Given the description of an element on the screen output the (x, y) to click on. 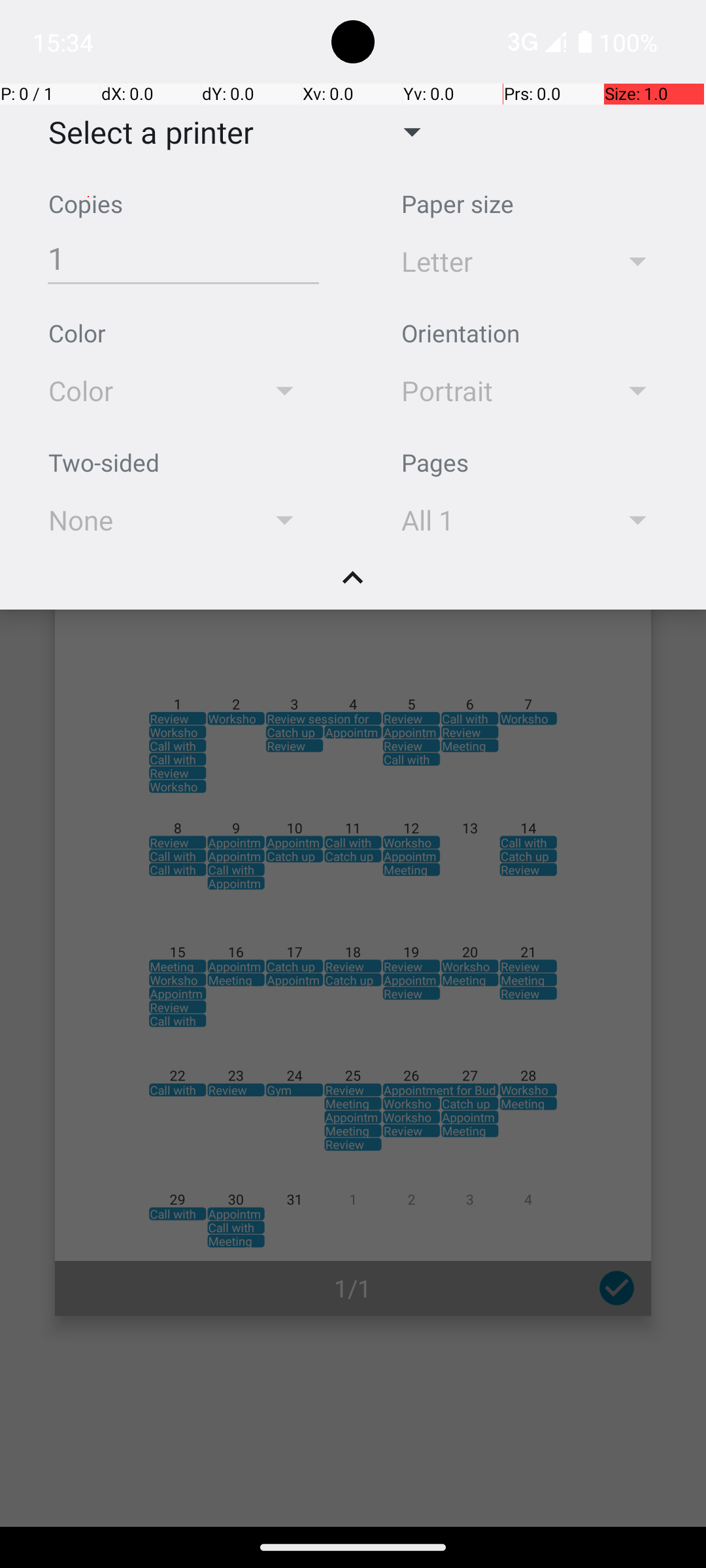
Copies Element type: android.widget.TextView (85, 203)
Paper size Element type: android.widget.TextView (457, 203)
Orientation Element type: android.widget.TextView (460, 332)
Two-sided Element type: android.widget.TextView (103, 461)
Pages Element type: android.widget.TextView (434, 461)
Collapse handle Element type: android.widget.FrameLayout (353, 585)
Select a printer Element type: android.widget.TextView (140, 131)
Letter Element type: android.widget.CheckedTextView (491, 261)
Portrait Element type: android.widget.CheckedTextView (491, 390)
All 1 Element type: android.widget.CheckedTextView (491, 519)
Page 1 of 1 Element type: android.widget.CompoundButton (352, 902)
1/1 Element type: android.widget.TextView (352, 1287)
